Given the description of an element on the screen output the (x, y) to click on. 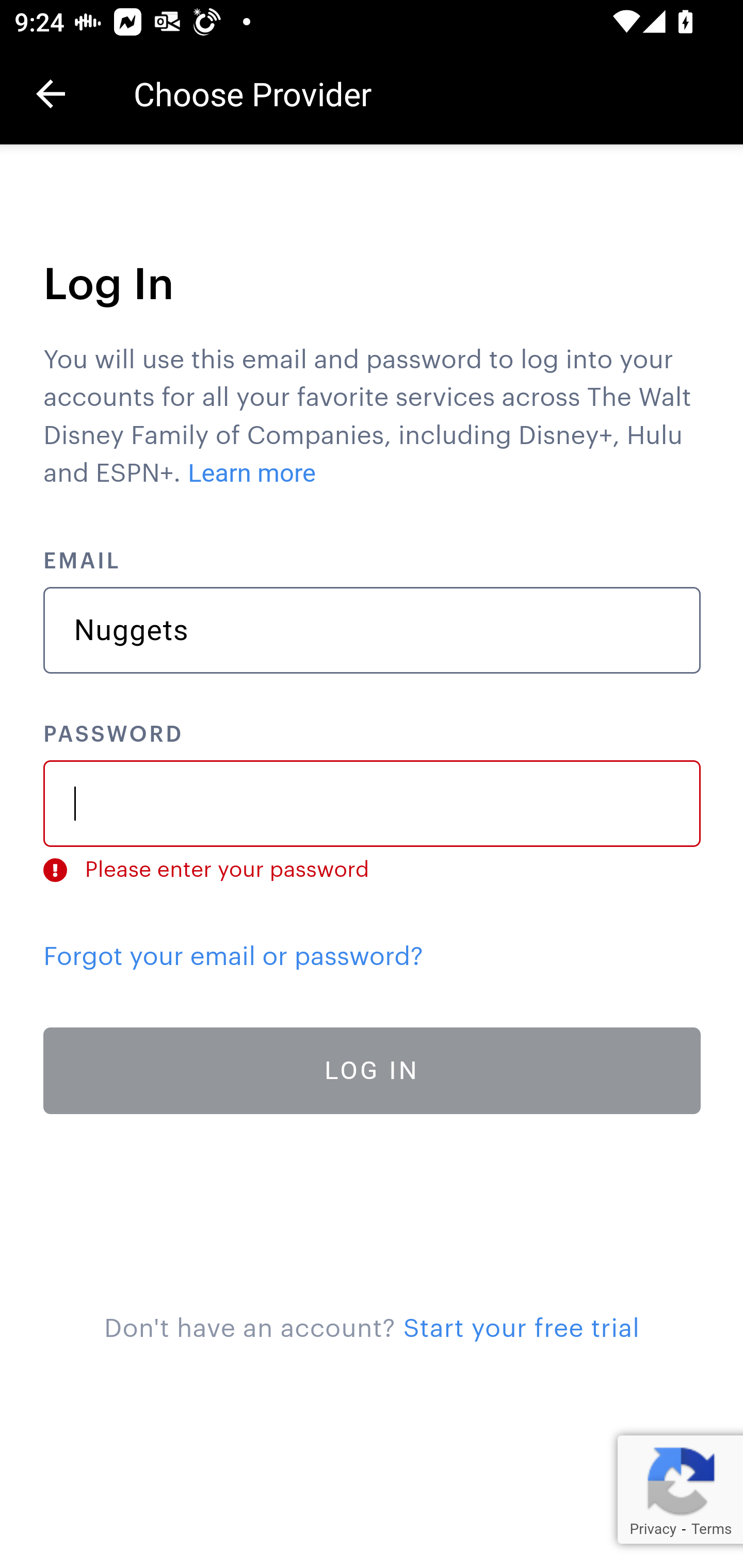
Navigate up (50, 93)
Learn more (252, 473)
Nuggets (372, 629)
Forgot your email or password? (233, 956)
LOG IN (372, 1070)
Start your free trial (521, 1328)
Privacy (652, 1528)
Terms (711, 1528)
